Given the description of an element on the screen output the (x, y) to click on. 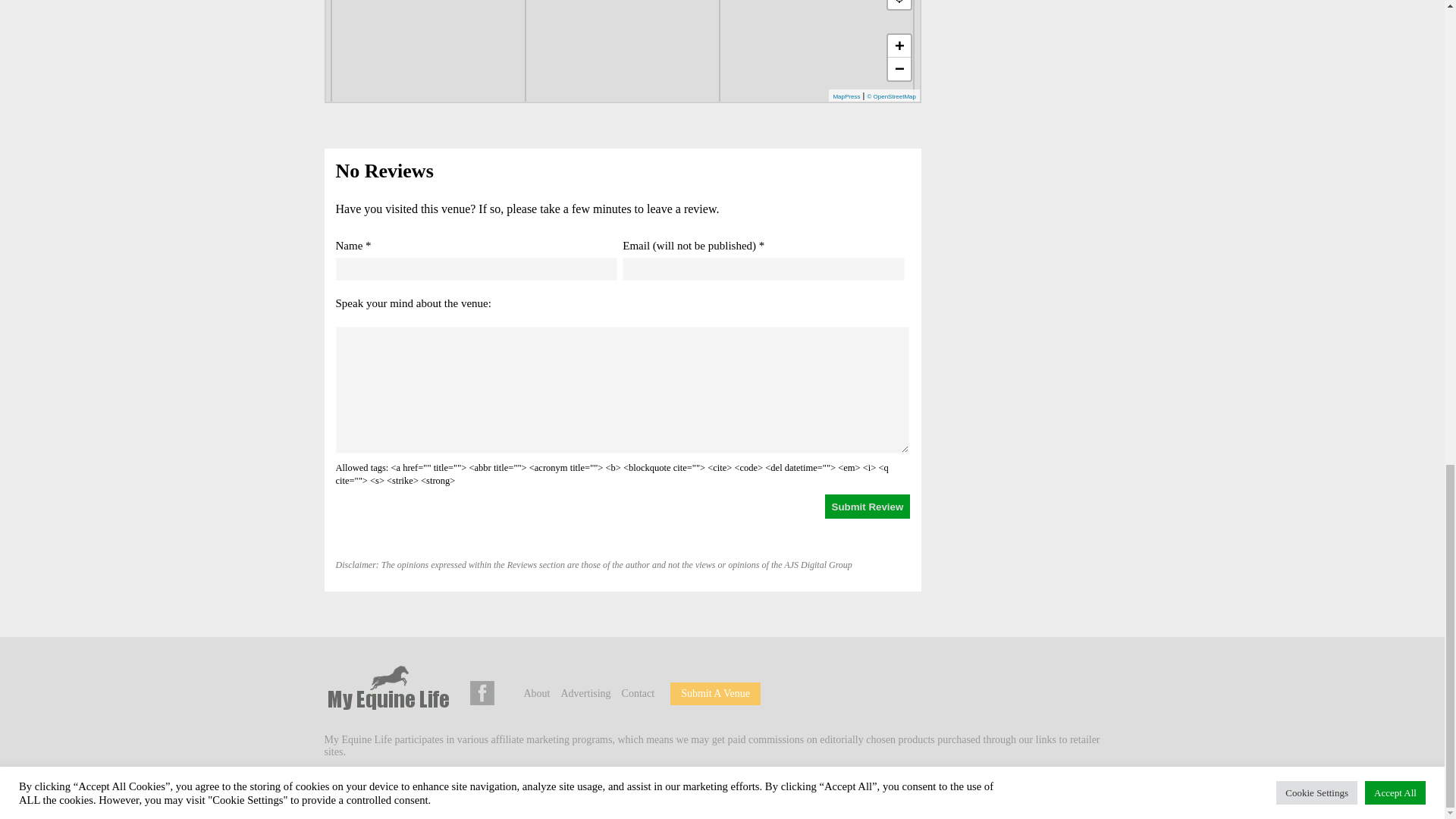
Your Location (899, 5)
Terms of Use (597, 787)
About (536, 693)
Contact (638, 693)
MapPress (846, 96)
Submit Review (867, 506)
Submit Review (867, 506)
Submit A Venue (715, 693)
Advertising (585, 693)
AJS Digital Group (430, 787)
